Given the description of an element on the screen output the (x, y) to click on. 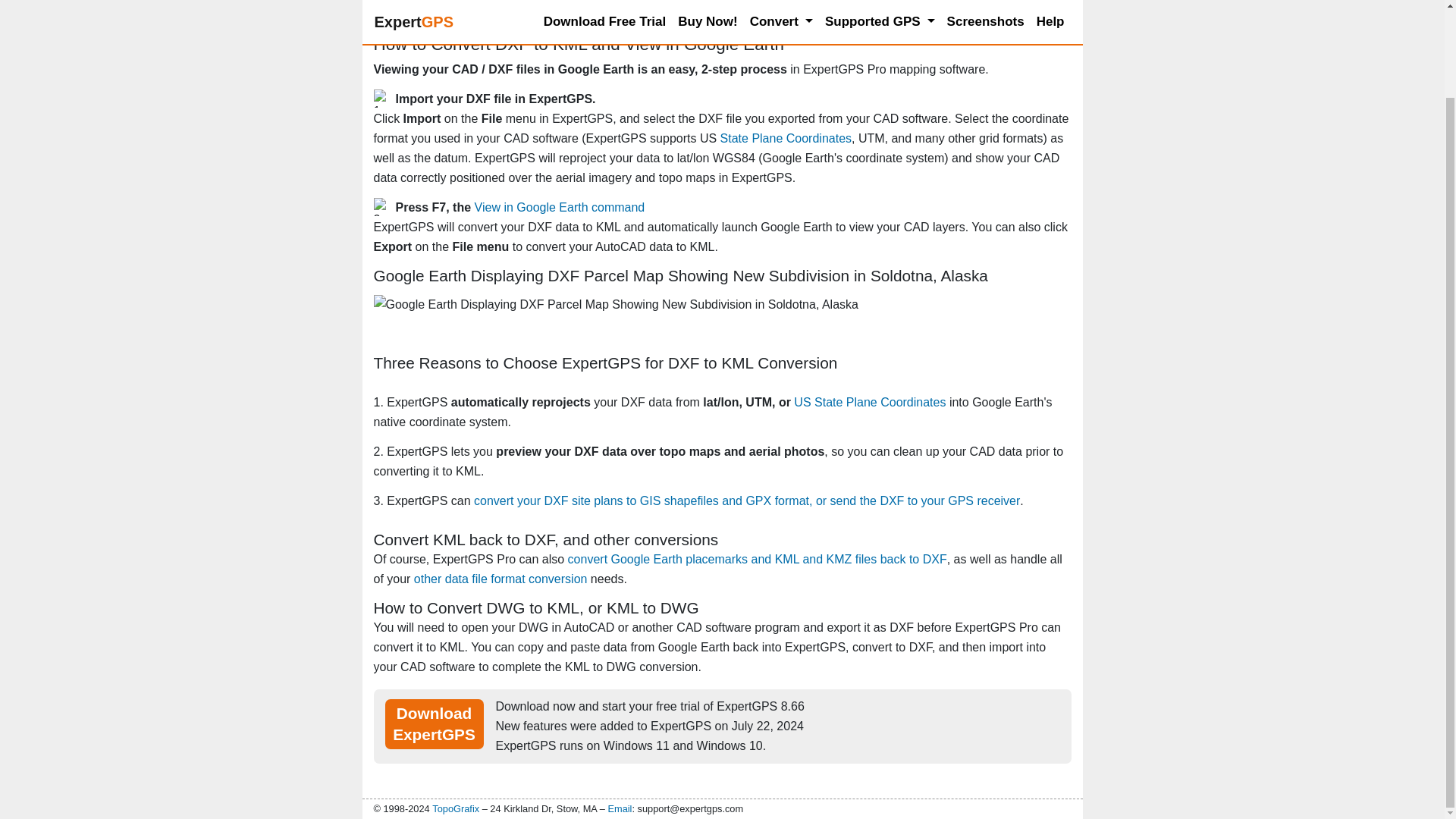
ExpertGPS (414, 6)
View in Google Earth: ExpertGPS Help File (559, 206)
Download Free Trial (604, 7)
Step 1: (381, 98)
Step 2: (381, 207)
ExpertGPS Map Software Home Page (414, 6)
Download a free trial of ExpertGPS map software (434, 724)
Download a fully-featured demo of ExpertGPS (604, 7)
Contact Dan Foster, author of ExpertGPS map software (455, 808)
File conversions with ExpertGPS (500, 578)
